Given the description of an element on the screen output the (x, y) to click on. 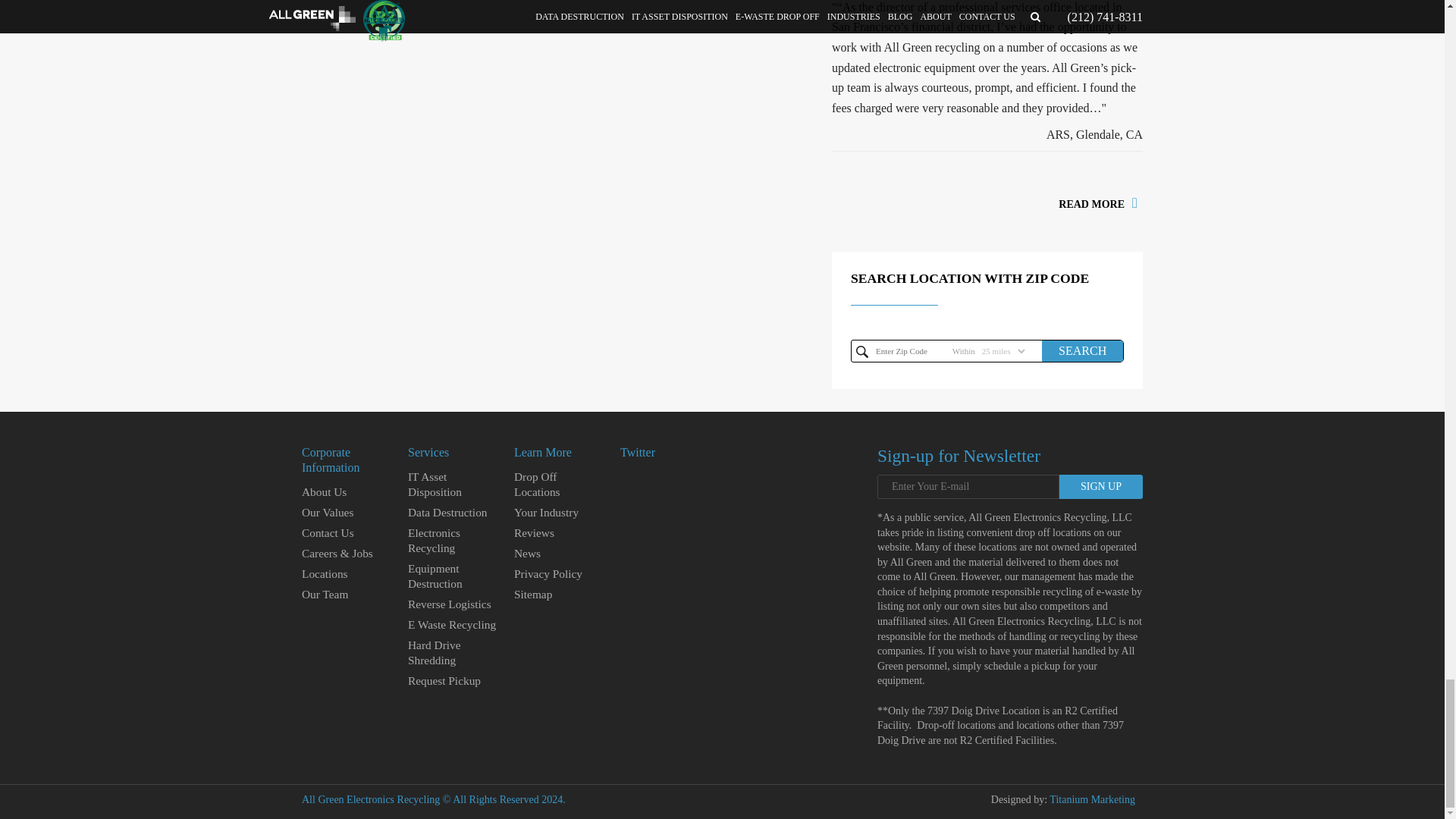
Sign Up (1100, 486)
